Given the description of an element on the screen output the (x, y) to click on. 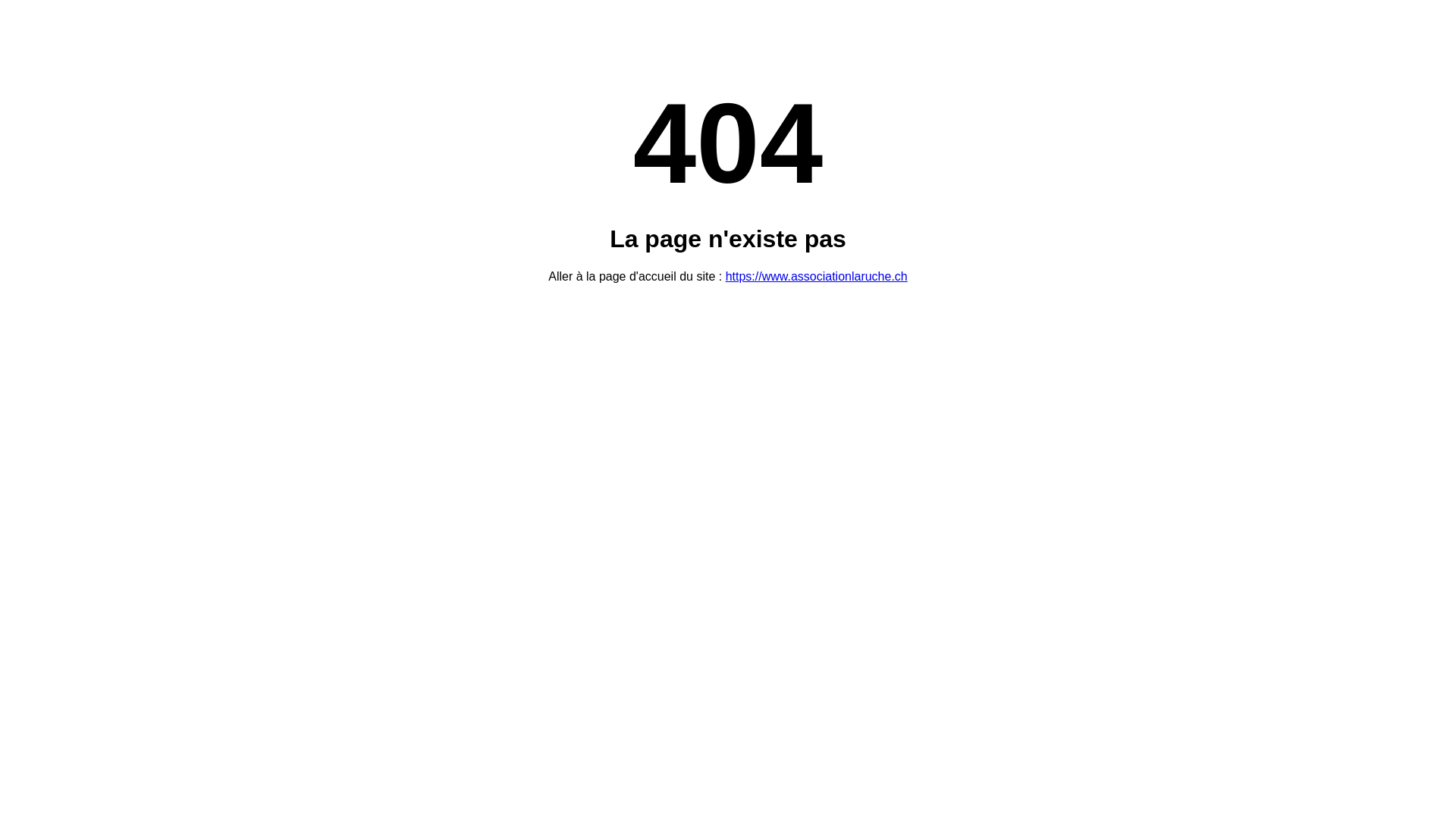
https://www.associationlaruche.ch Element type: text (816, 275)
